Given the description of an element on the screen output the (x, y) to click on. 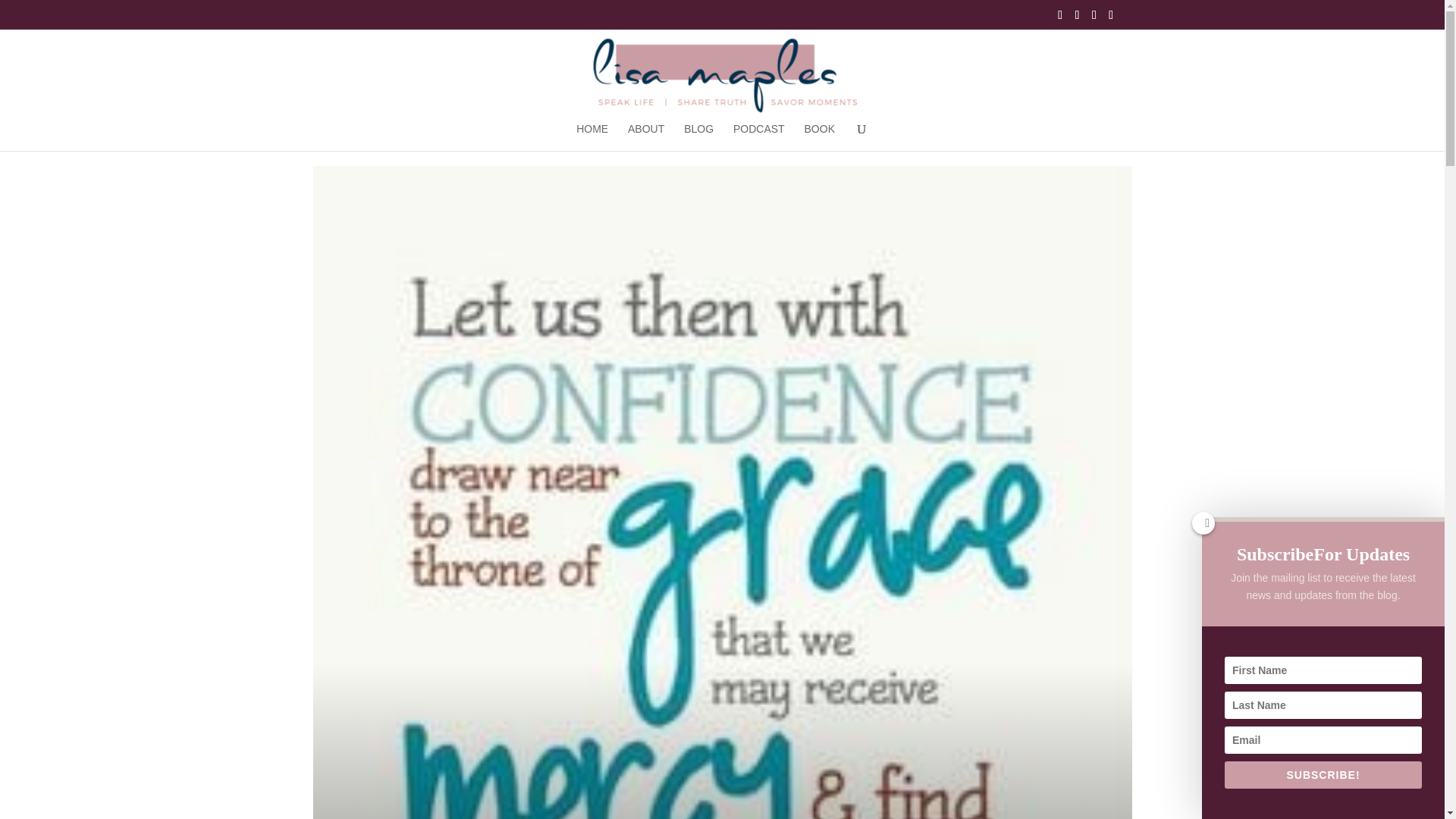
PODCAST (758, 135)
HOME (592, 135)
BOOK (819, 135)
ABOUT (645, 135)
BLOG (698, 135)
